Given the description of an element on the screen output the (x, y) to click on. 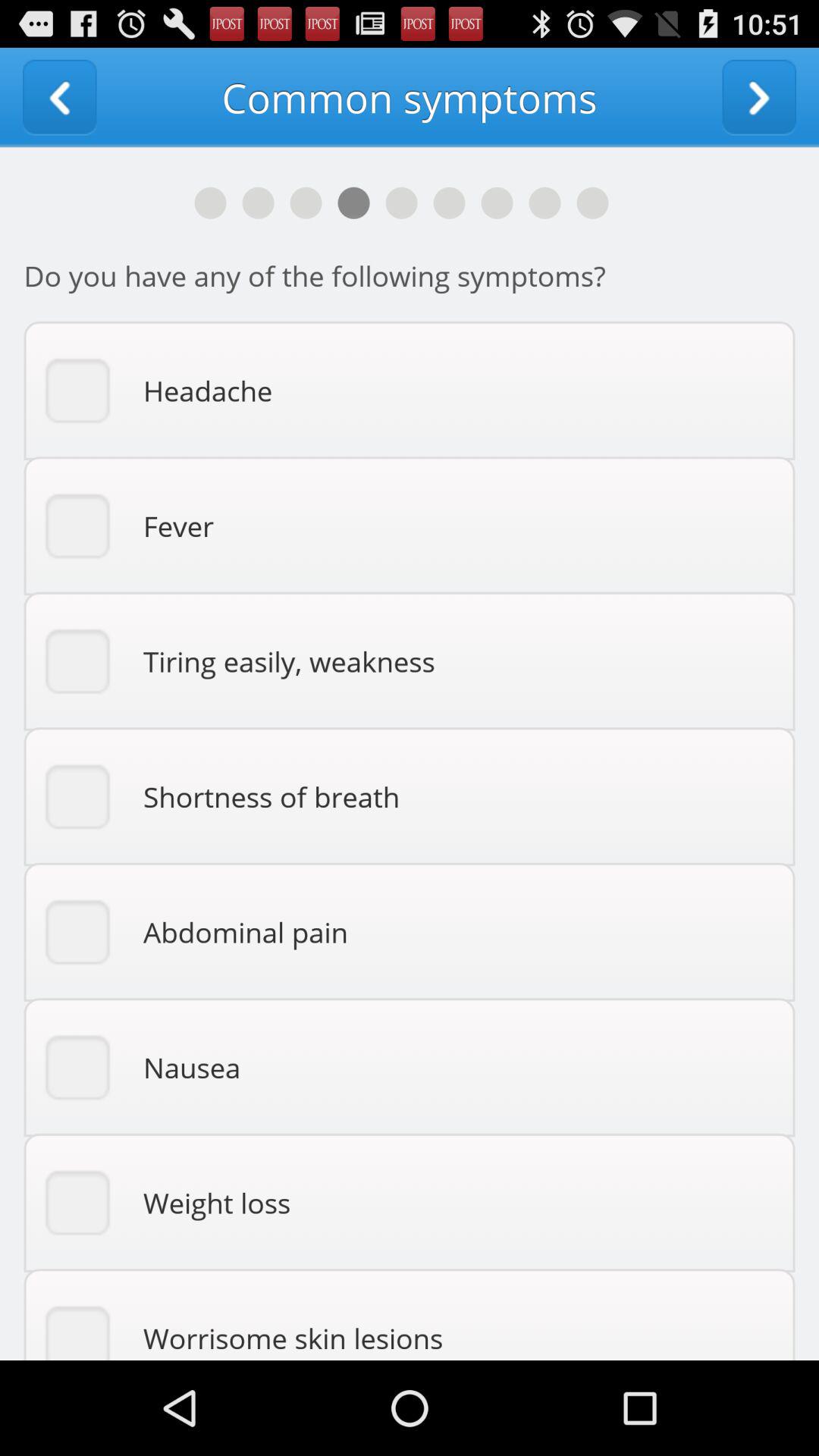
go back (59, 97)
